Given the description of an element on the screen output the (x, y) to click on. 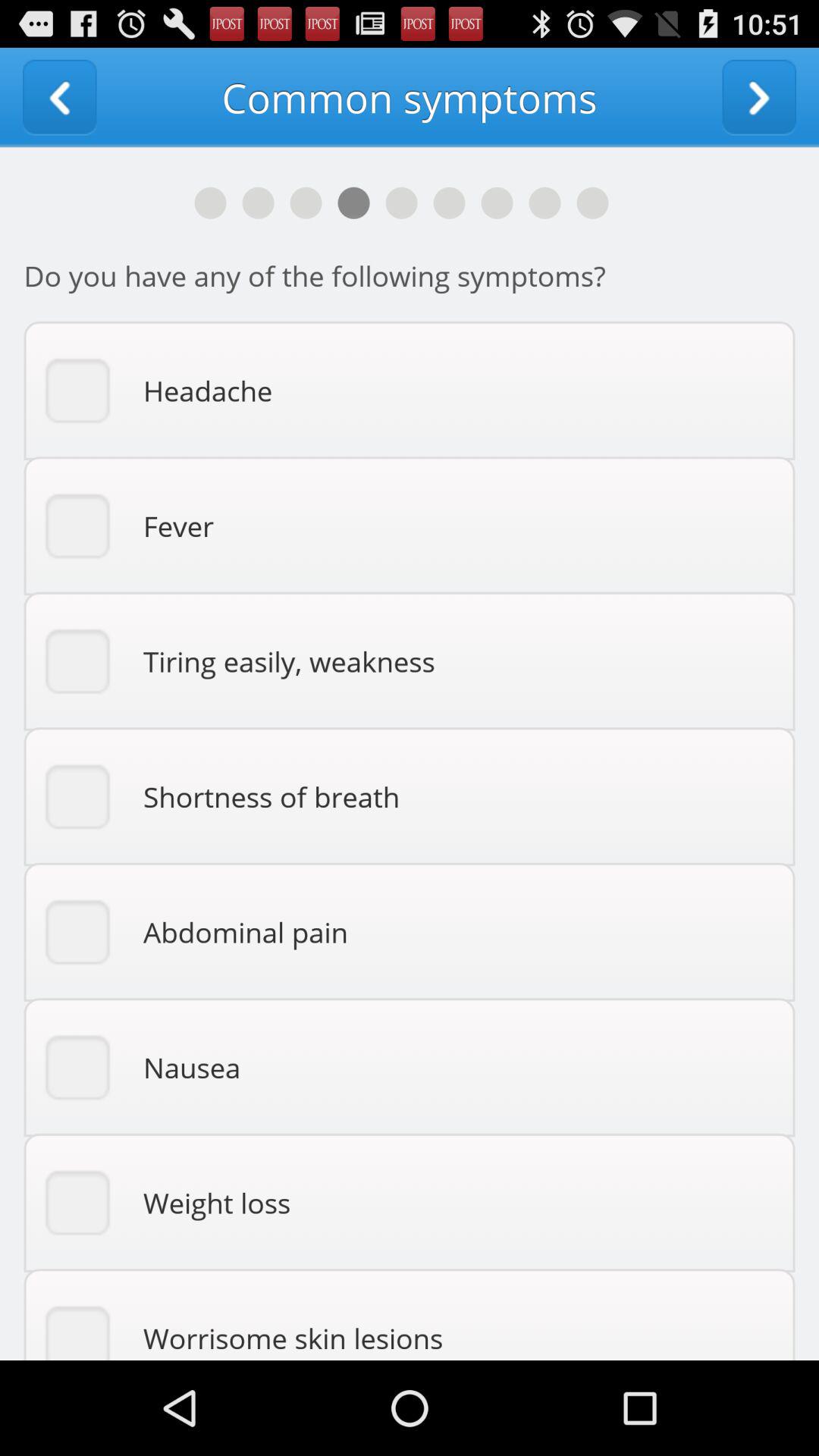
go back (59, 97)
